Given the description of an element on the screen output the (x, y) to click on. 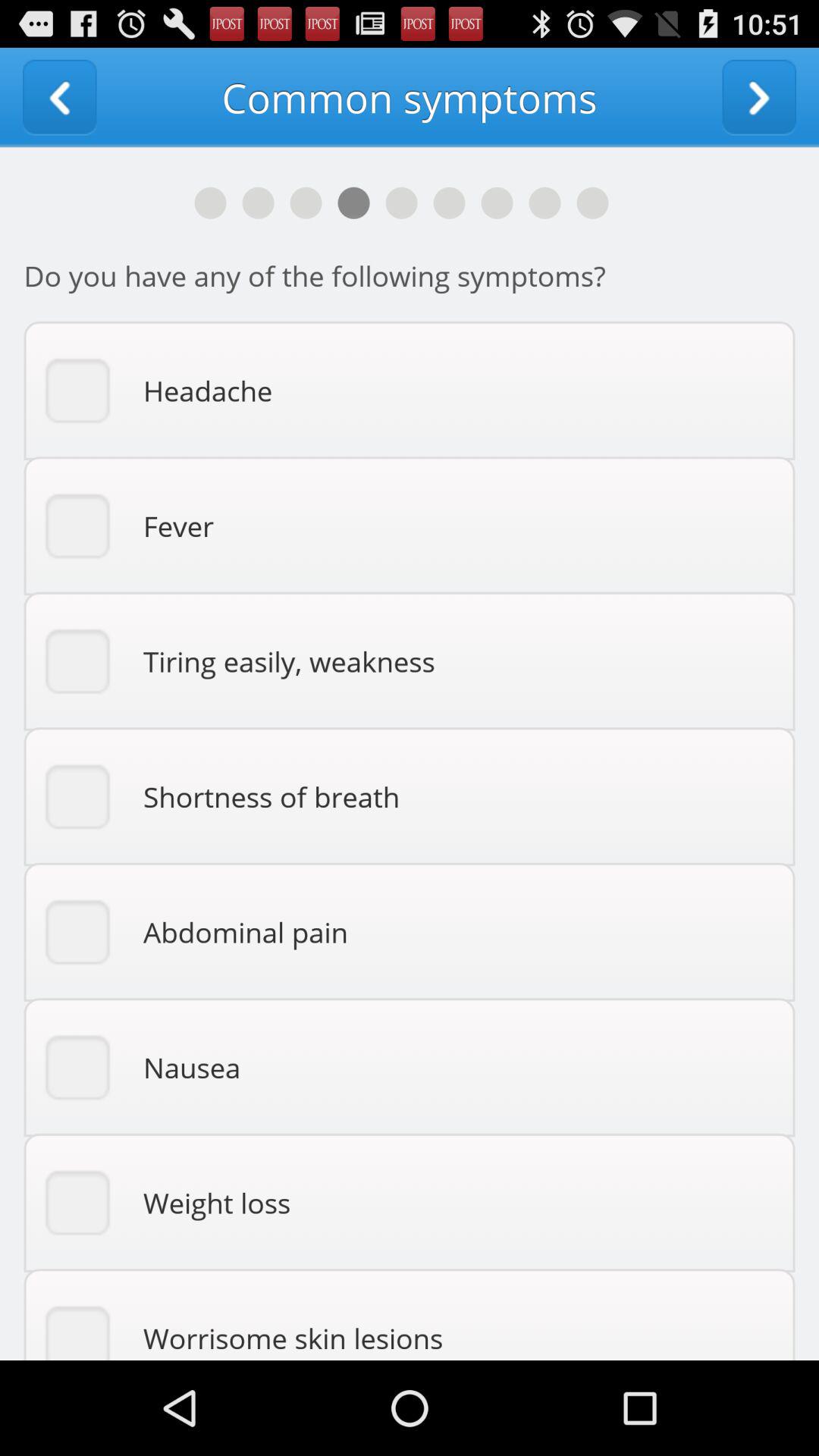
go back (59, 97)
